Given the description of an element on the screen output the (x, y) to click on. 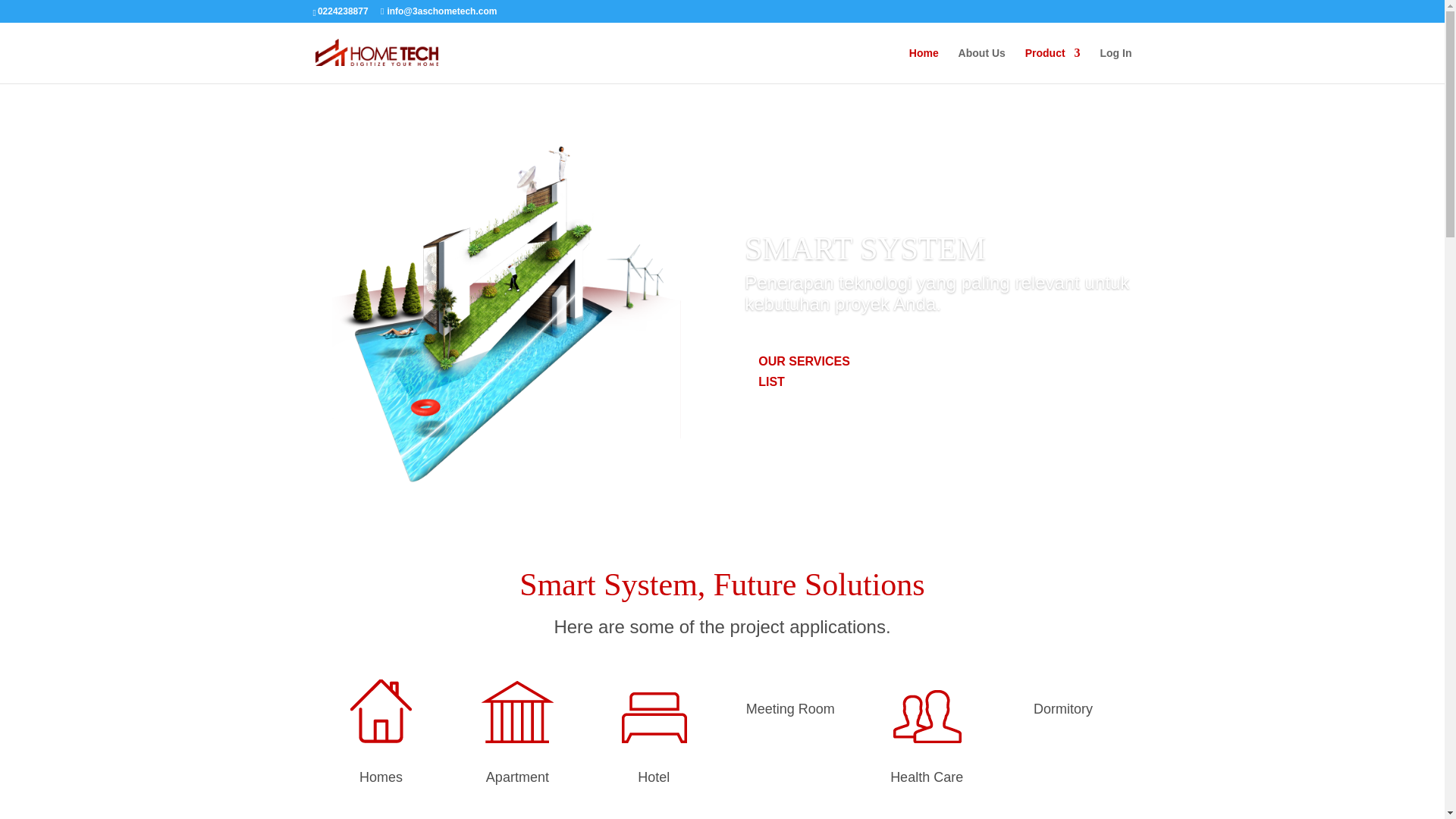
About Us Element type: text (981, 65)
Dormitory Element type: text (1062, 708)
Apartment Element type: text (517, 776)
Meeting Room Element type: text (790, 708)
OUR SERVICES LIST Element type: text (816, 371)
Home Element type: text (923, 65)
Product Element type: text (1052, 65)
SMART SYSTEM Element type: text (864, 248)
Hotel Element type: text (653, 776)
Log In Element type: text (1115, 65)
Health Care Element type: text (926, 776)
info@3aschometech.com Element type: text (438, 11)
Homes Element type: text (380, 776)
